Given the description of an element on the screen output the (x, y) to click on. 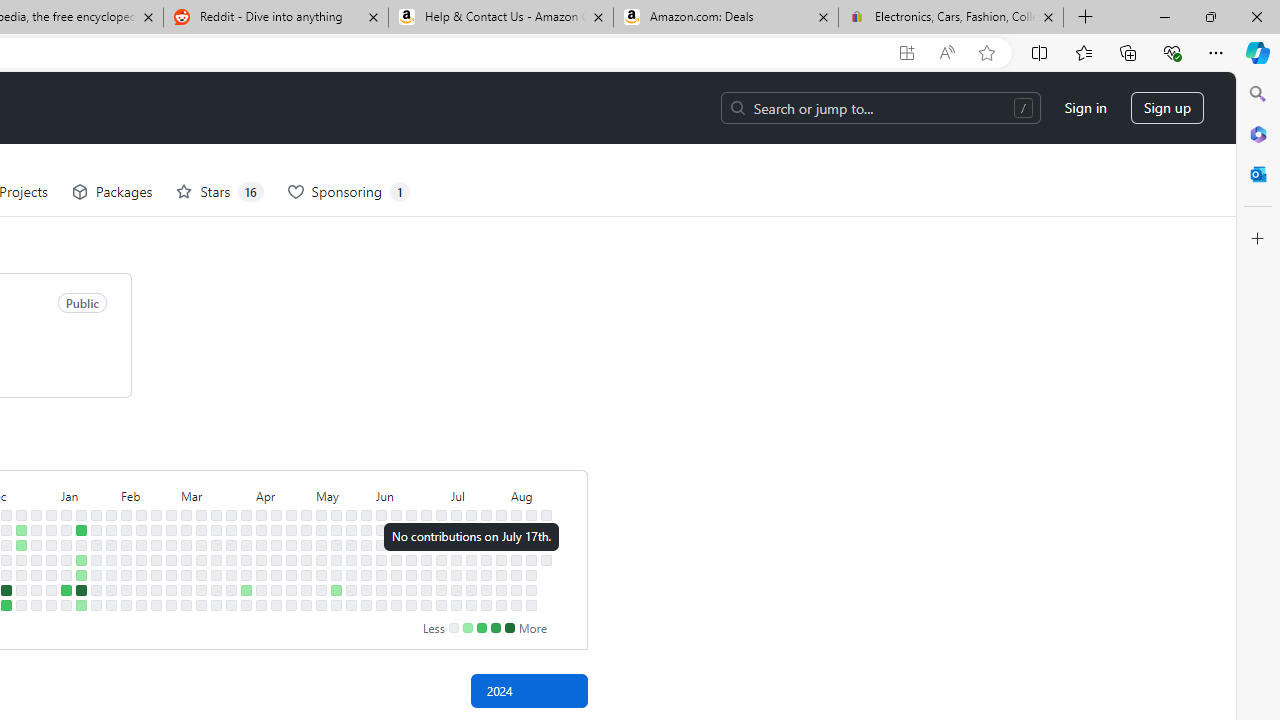
No contributions on January 4th. (51, 574)
No contributions on August 8th. (516, 574)
No contributions on May 4th. (306, 605)
No contributions on July 3rd. (441, 559)
No contributions on July 12th. (456, 589)
No contributions on February 16th. (141, 589)
No contributions on April 9th. (261, 544)
No contributions on April 8th. (261, 529)
No contributions on August 16th. (531, 589)
No contributions on March 25th. (231, 529)
March (216, 493)
2024 (528, 690)
No contributions on May 22nd. (351, 559)
No contributions on April 24th. (290, 559)
No contributions on April 20th. (276, 605)
